Given the description of an element on the screen output the (x, y) to click on. 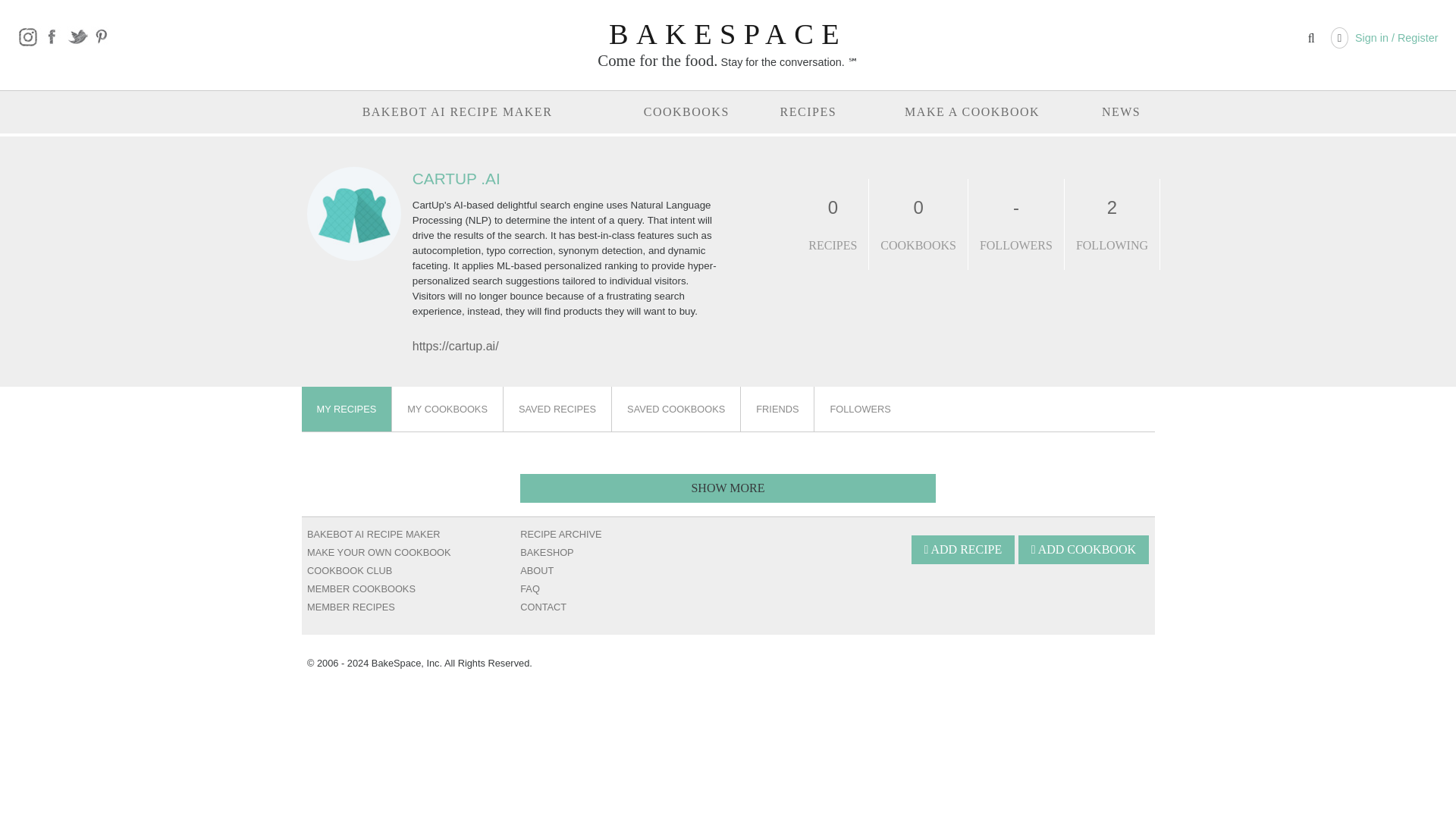
MAKE A COOKBOOK (971, 112)
NEWS (1121, 112)
BAKEBOT AI RECIPE MAKER (457, 112)
SAVED COOKBOOKS (676, 408)
SHOW MORE (727, 488)
SAVED RECIPES (557, 408)
MY COOKBOOKS (447, 408)
RECIPES (808, 112)
BAKESPACE (727, 33)
FRIENDS (777, 408)
FOLLOWERS (859, 408)
COOKBOOKS (686, 112)
MY RECIPES (347, 408)
